Given the description of an element on the screen output the (x, y) to click on. 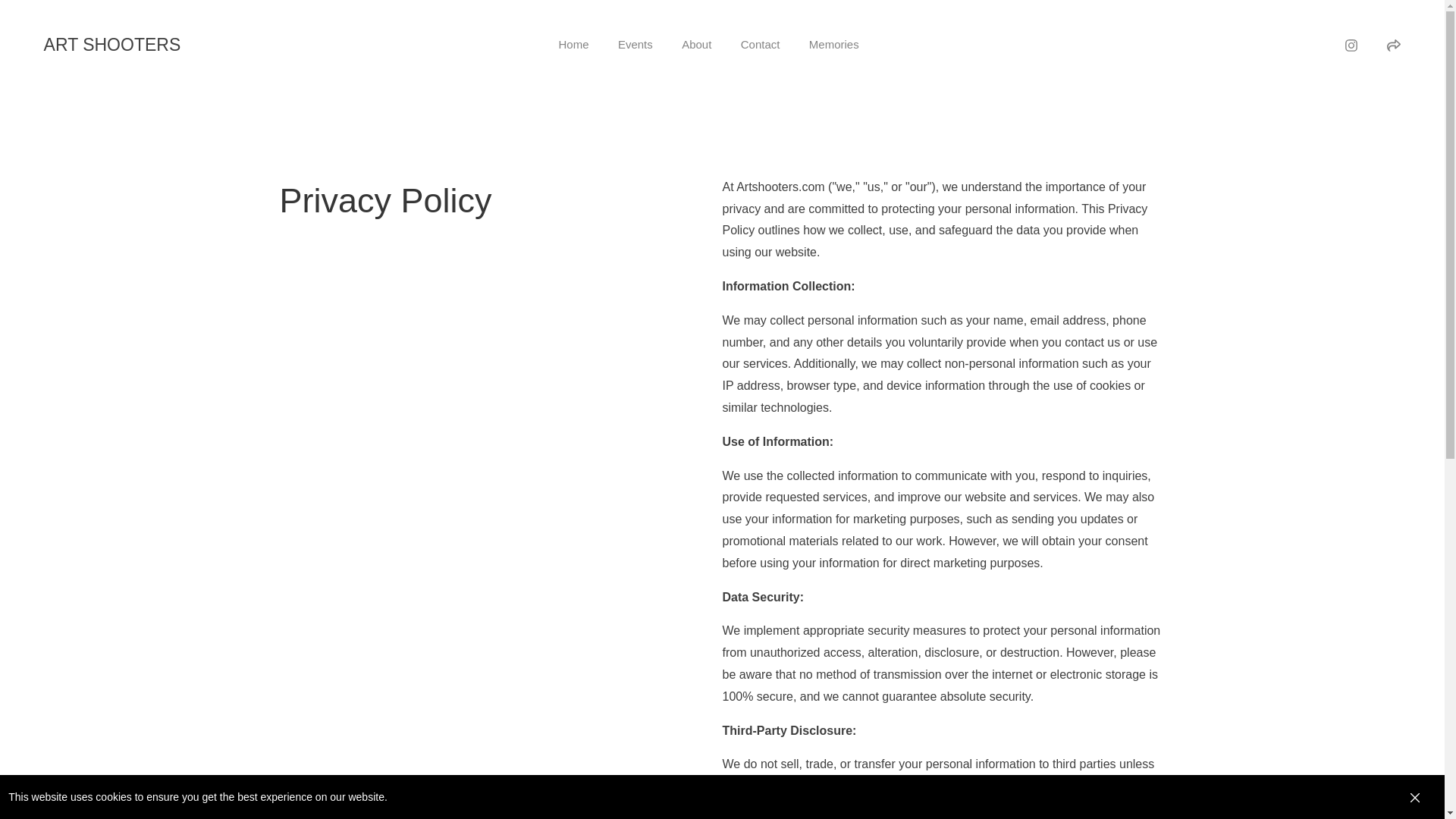
Events (634, 44)
About (696, 44)
Contact (760, 44)
Memories (834, 44)
Home (574, 44)
ART SHOOTERS (233, 45)
